Given the description of an element on the screen output the (x, y) to click on. 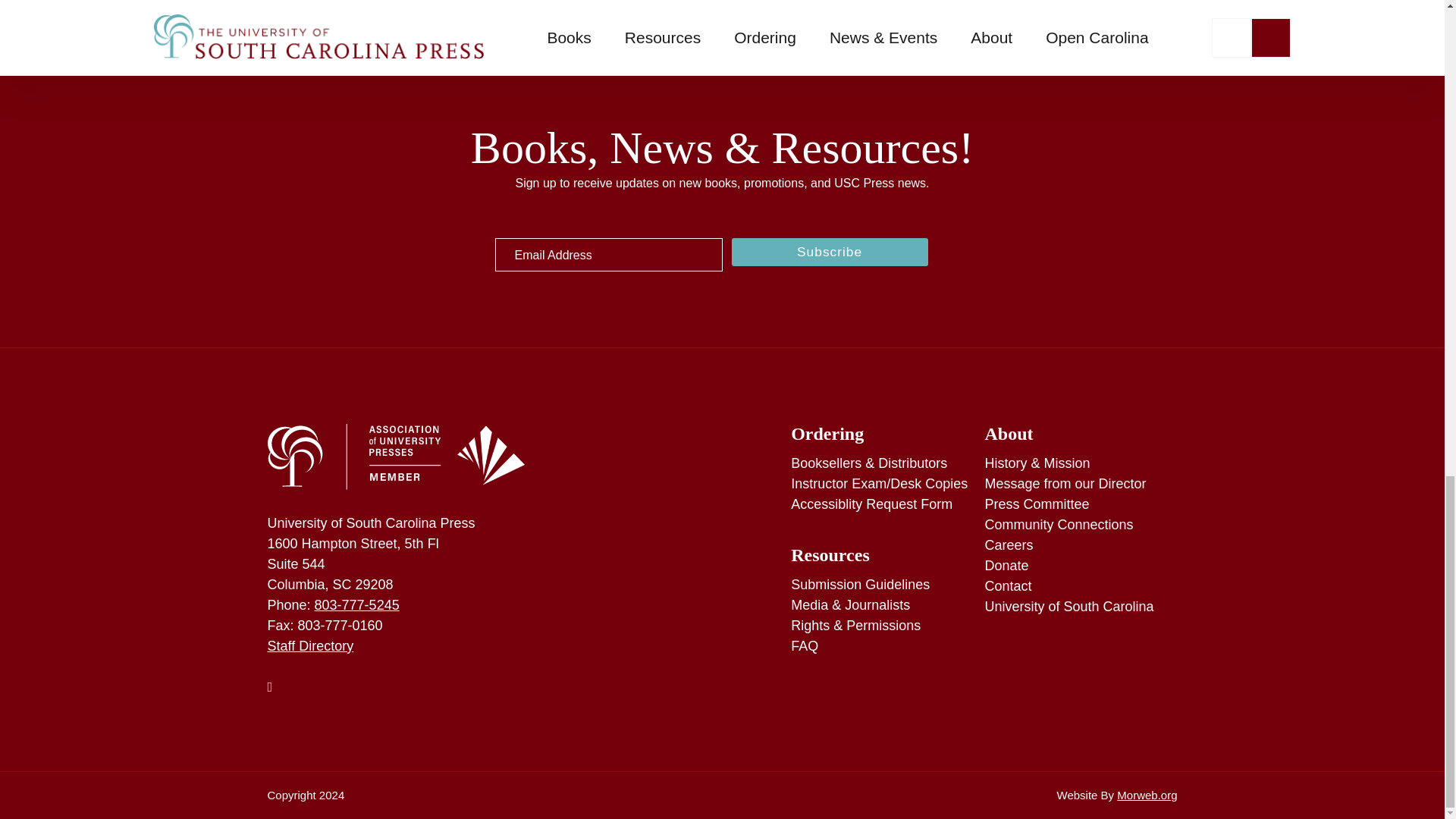
Subscribe (828, 251)
